Given the description of an element on the screen output the (x, y) to click on. 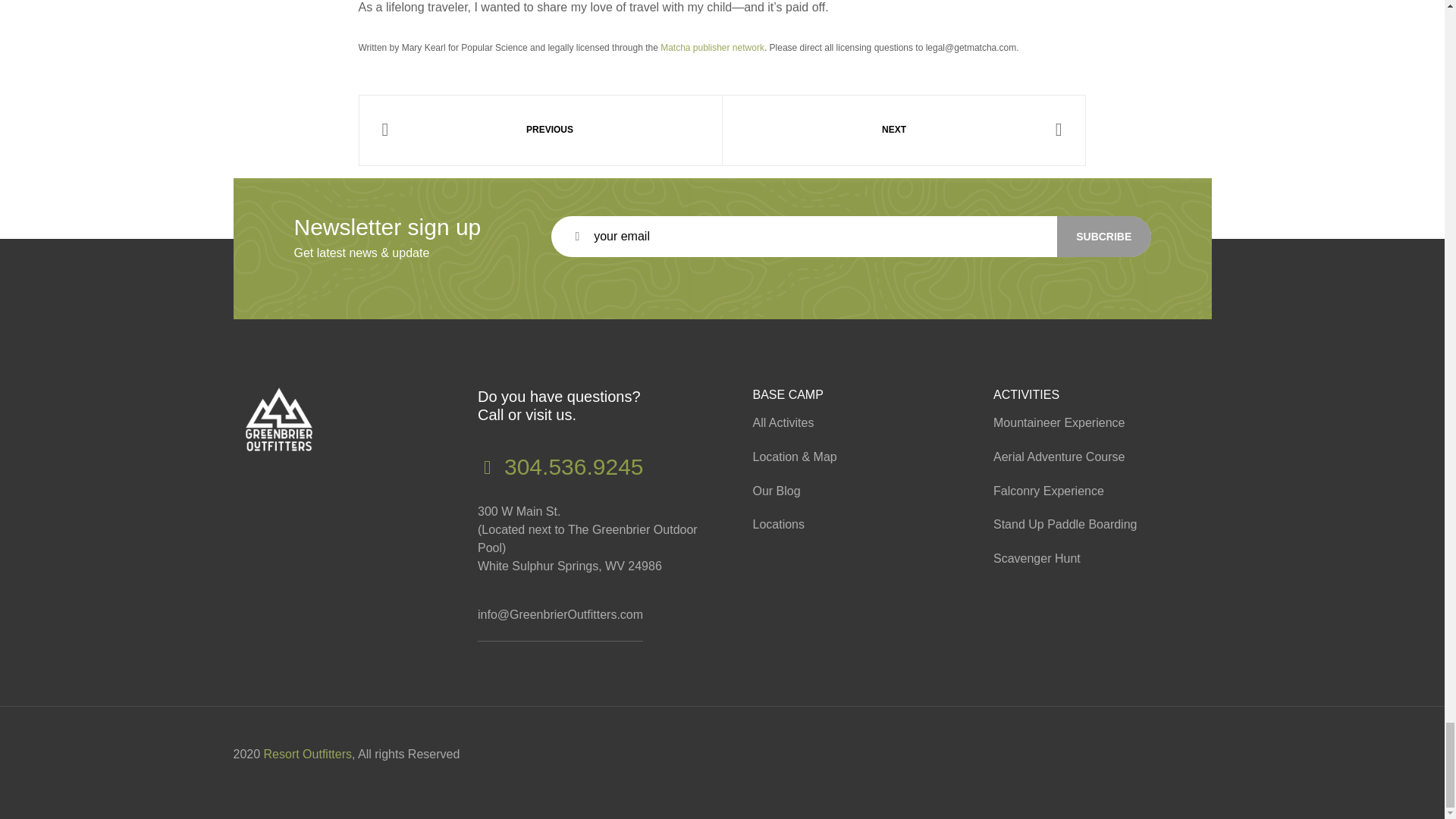
All Activites (846, 423)
Matcha publisher network (712, 47)
NEXT (904, 130)
PREVIOUS (540, 130)
SUBCRIBE (1104, 236)
